Given the description of an element on the screen output the (x, y) to click on. 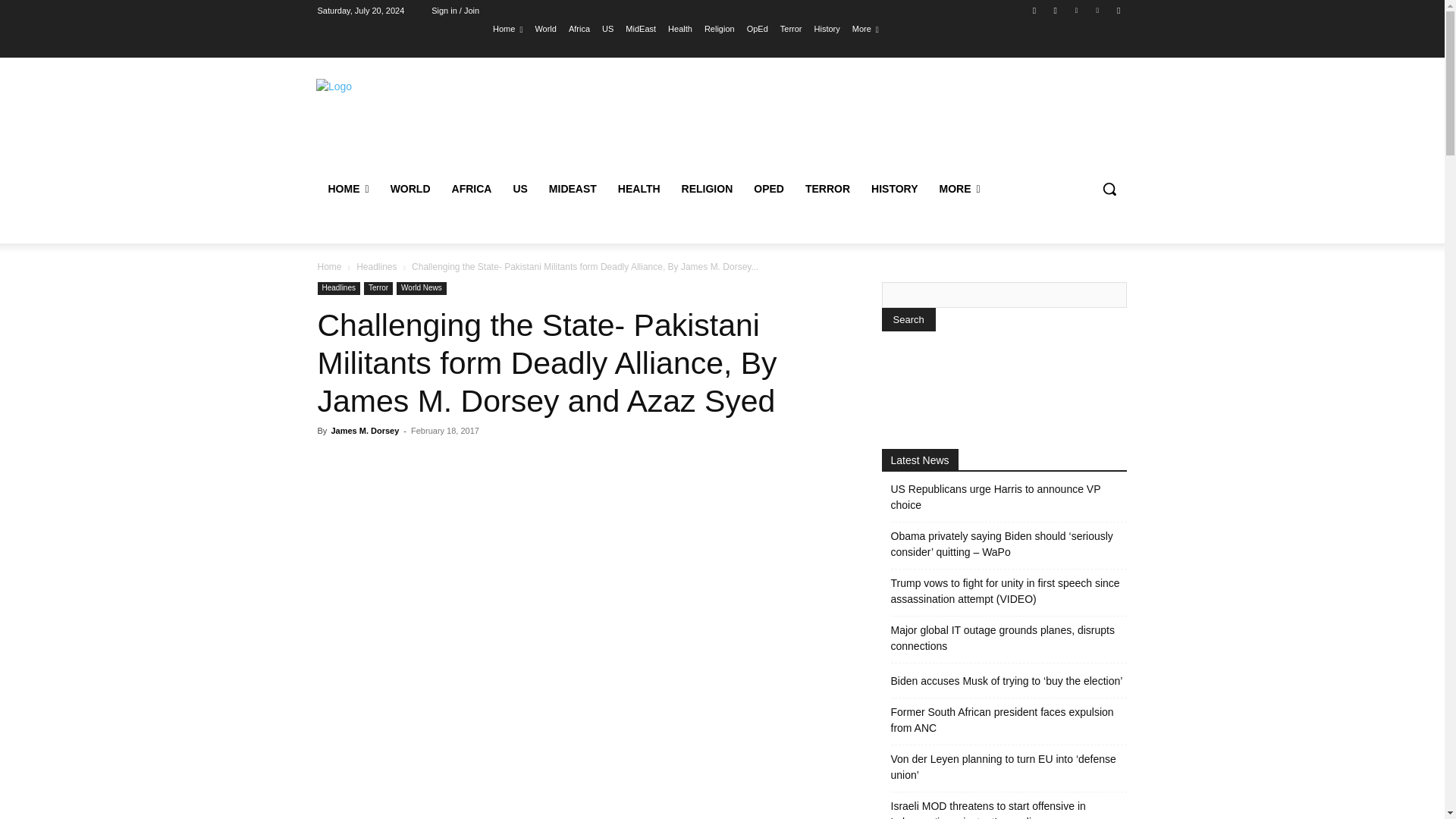
Instagram (1055, 9)
Africa (579, 28)
Health (680, 28)
View all posts in Headlines (376, 266)
Twitter (1075, 9)
Vimeo (1097, 9)
MidEast (641, 28)
Terror (791, 28)
World (545, 28)
Youtube (1117, 9)
OpEd (757, 28)
Search (907, 319)
Facebook (1034, 9)
Home (507, 28)
Religion (719, 28)
